Given the description of an element on the screen output the (x, y) to click on. 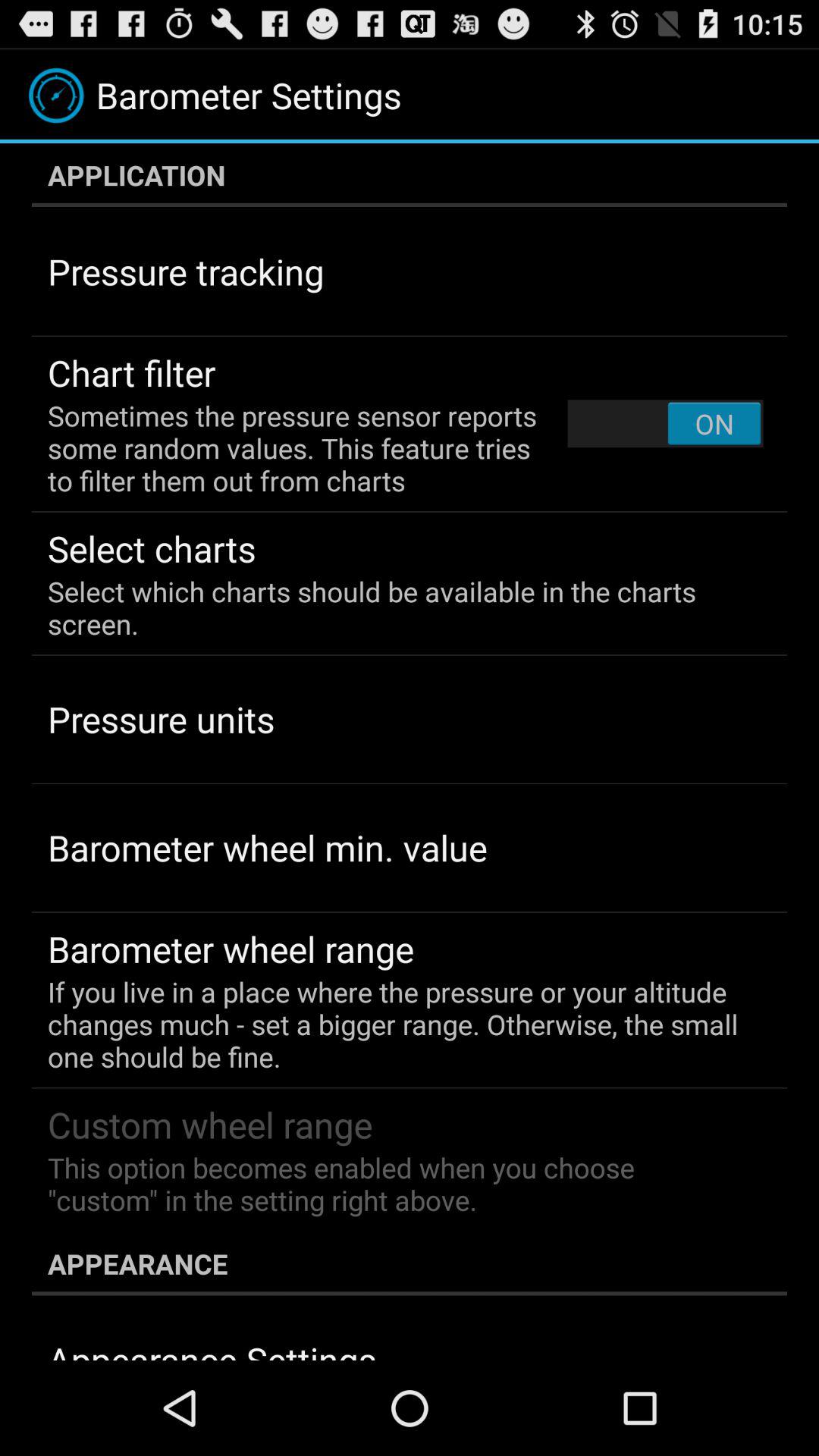
tap appearance settings item (211, 1347)
